Given the description of an element on the screen output the (x, y) to click on. 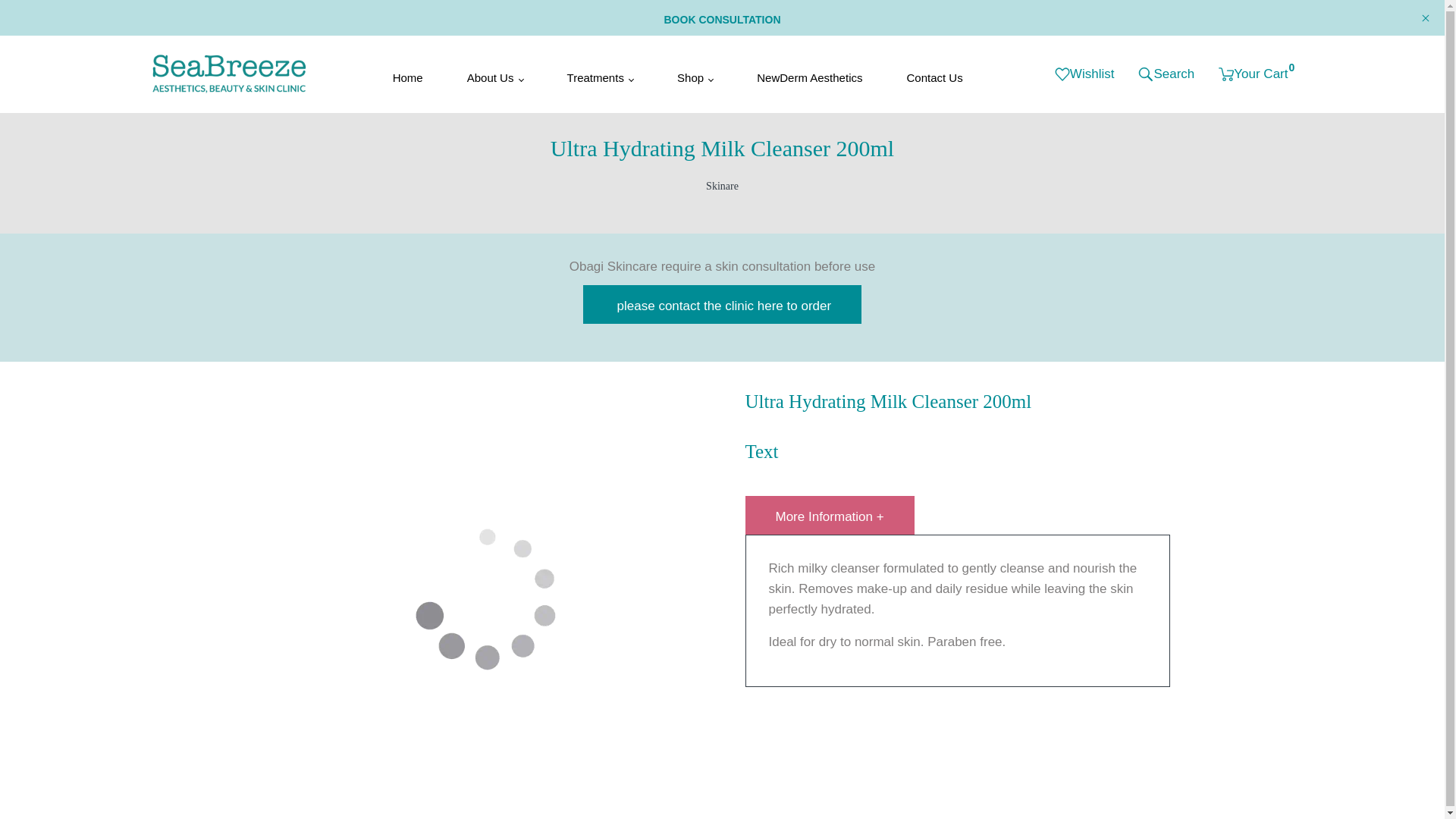
BOOK CONSULTATION (721, 16)
Home (407, 74)
Treatments (599, 74)
About Us (494, 74)
